Given the description of an element on the screen output the (x, y) to click on. 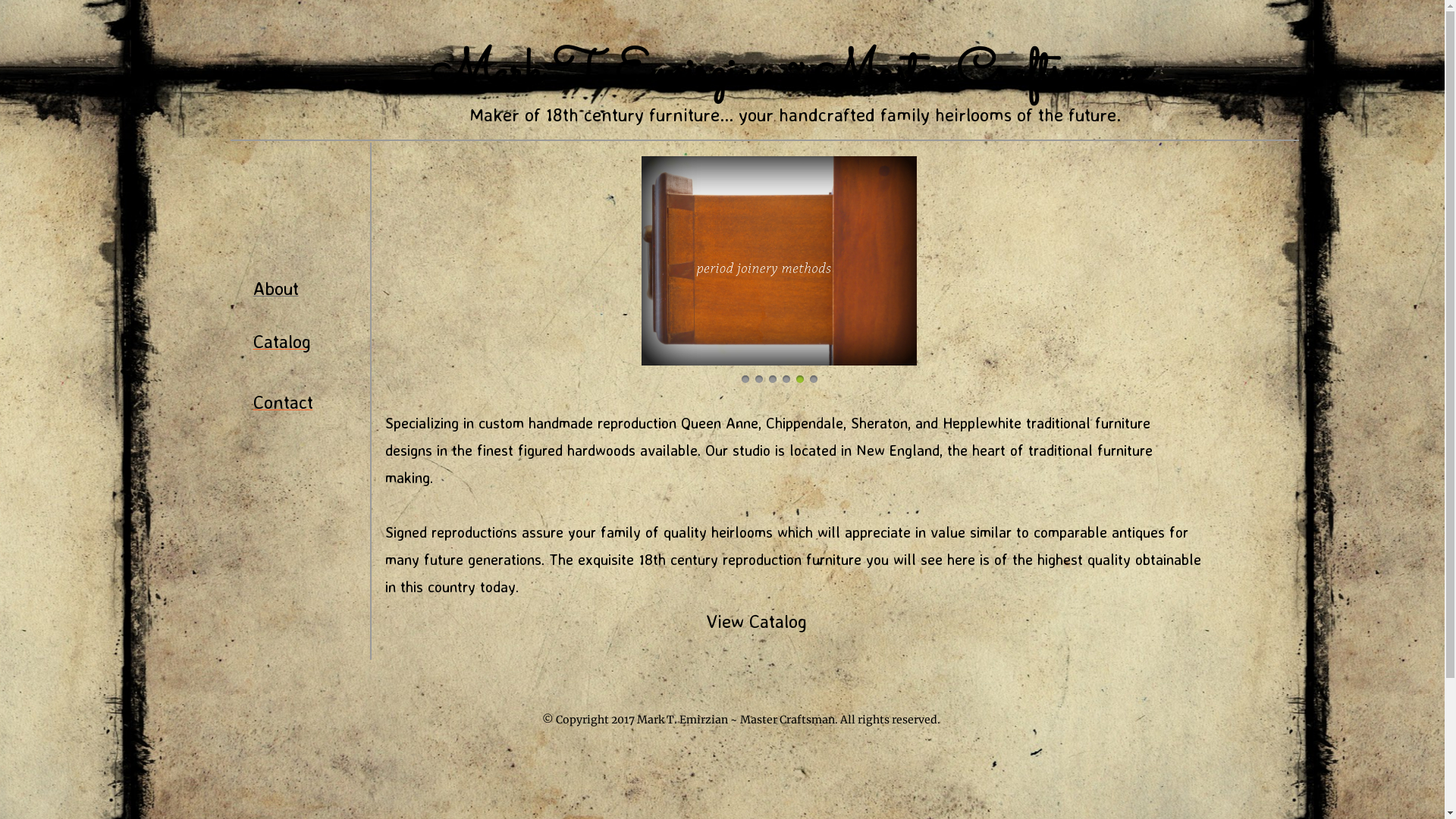
Contact Element type: text (283, 403)
Catalog Element type: text (281, 342)
View Catalog Element type: text (755, 622)
About Element type: text (275, 289)
